Given the description of an element on the screen output the (x, y) to click on. 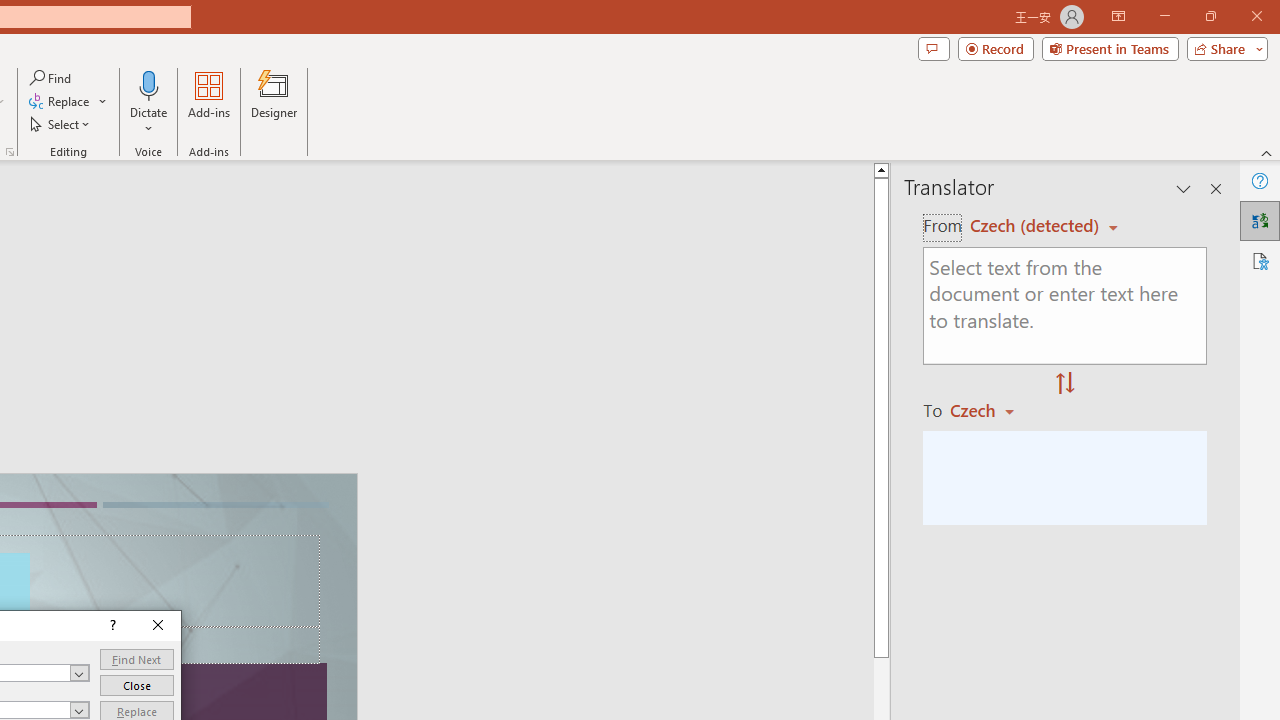
Find... (51, 78)
